Given the description of an element on the screen output the (x, y) to click on. 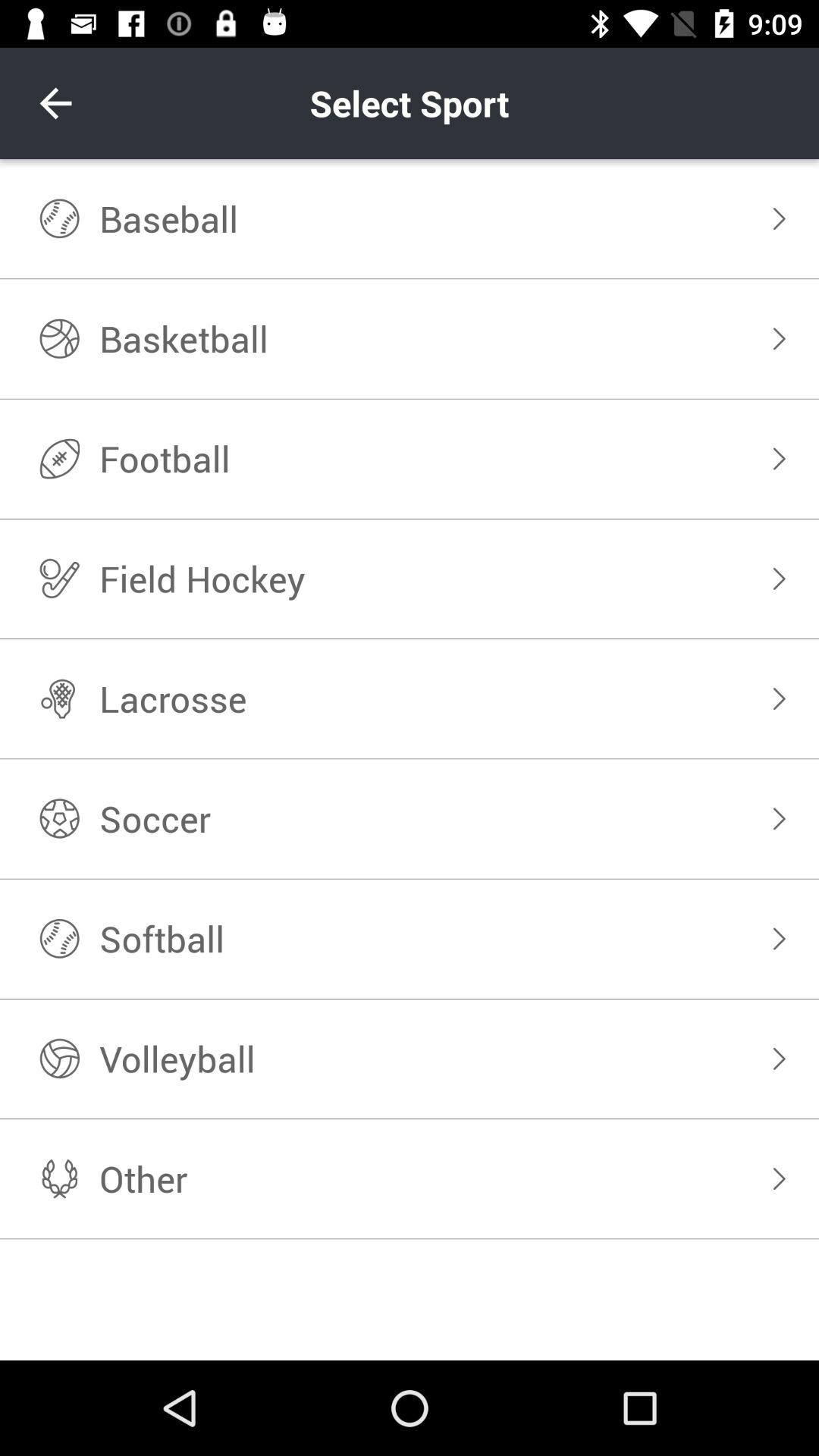
select item next to select sport icon (55, 103)
